Given the description of an element on the screen output the (x, y) to click on. 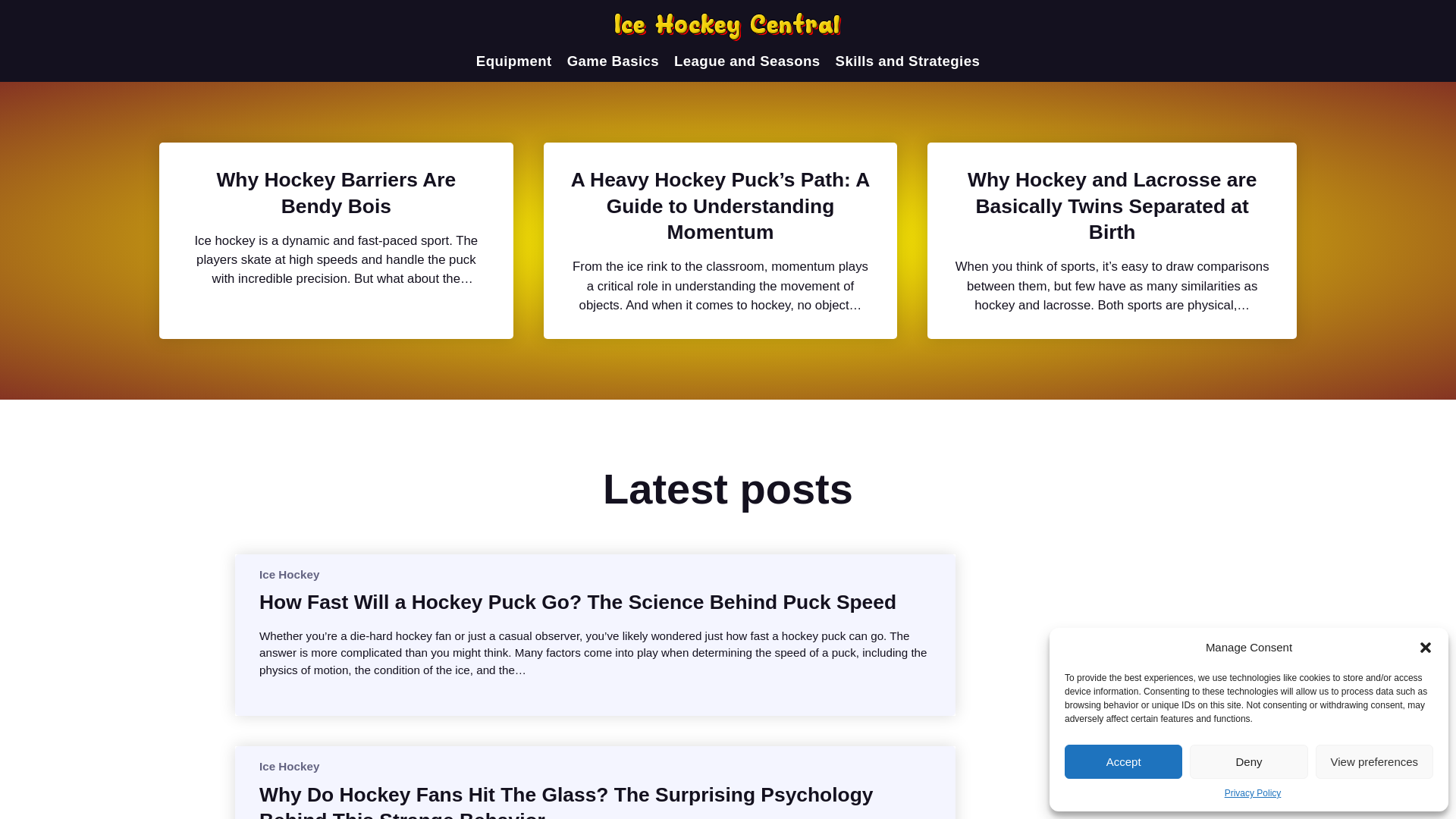
Skills and Strategies (907, 61)
Why Hockey Barriers Are Bendy Bois (336, 193)
League and Seasons (746, 61)
Ice Hockey (288, 766)
Game Basics (613, 61)
View preferences (1374, 761)
Ice Hockey (288, 573)
Privacy Policy (1252, 793)
Equipment (513, 61)
Accept (1123, 761)
Deny (1248, 761)
